Given the description of an element on the screen output the (x, y) to click on. 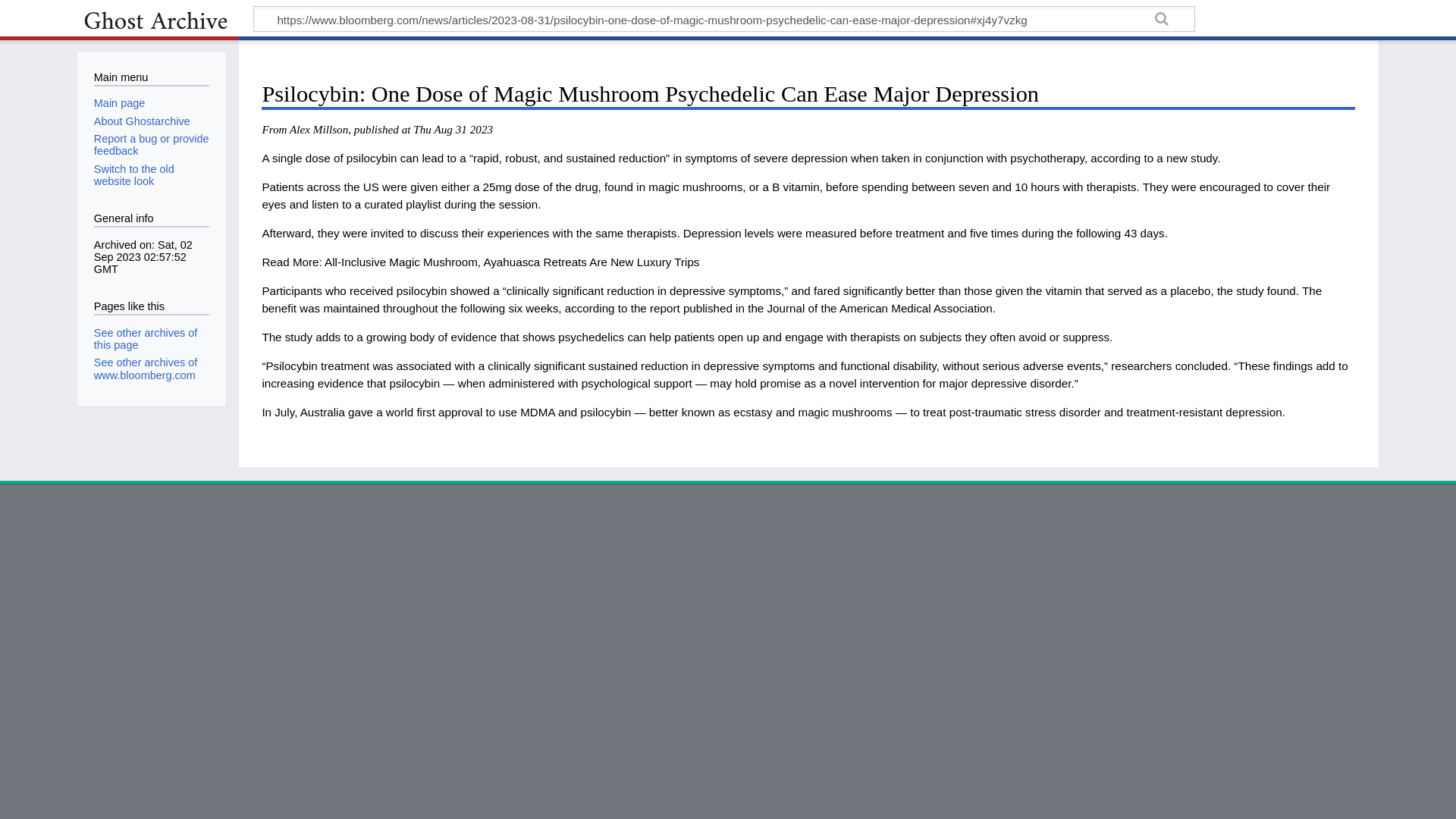
About Ghostarchive (142, 121)
Report a bug or provide feedback (151, 144)
Main page (119, 102)
Go (1162, 21)
See other archives of www.bloomberg.com (145, 368)
Search the archives for this URL (1162, 21)
Switch to the old website look (134, 174)
Go (1162, 21)
See other archives of this page (145, 338)
Go (1162, 21)
